Given the description of an element on the screen output the (x, y) to click on. 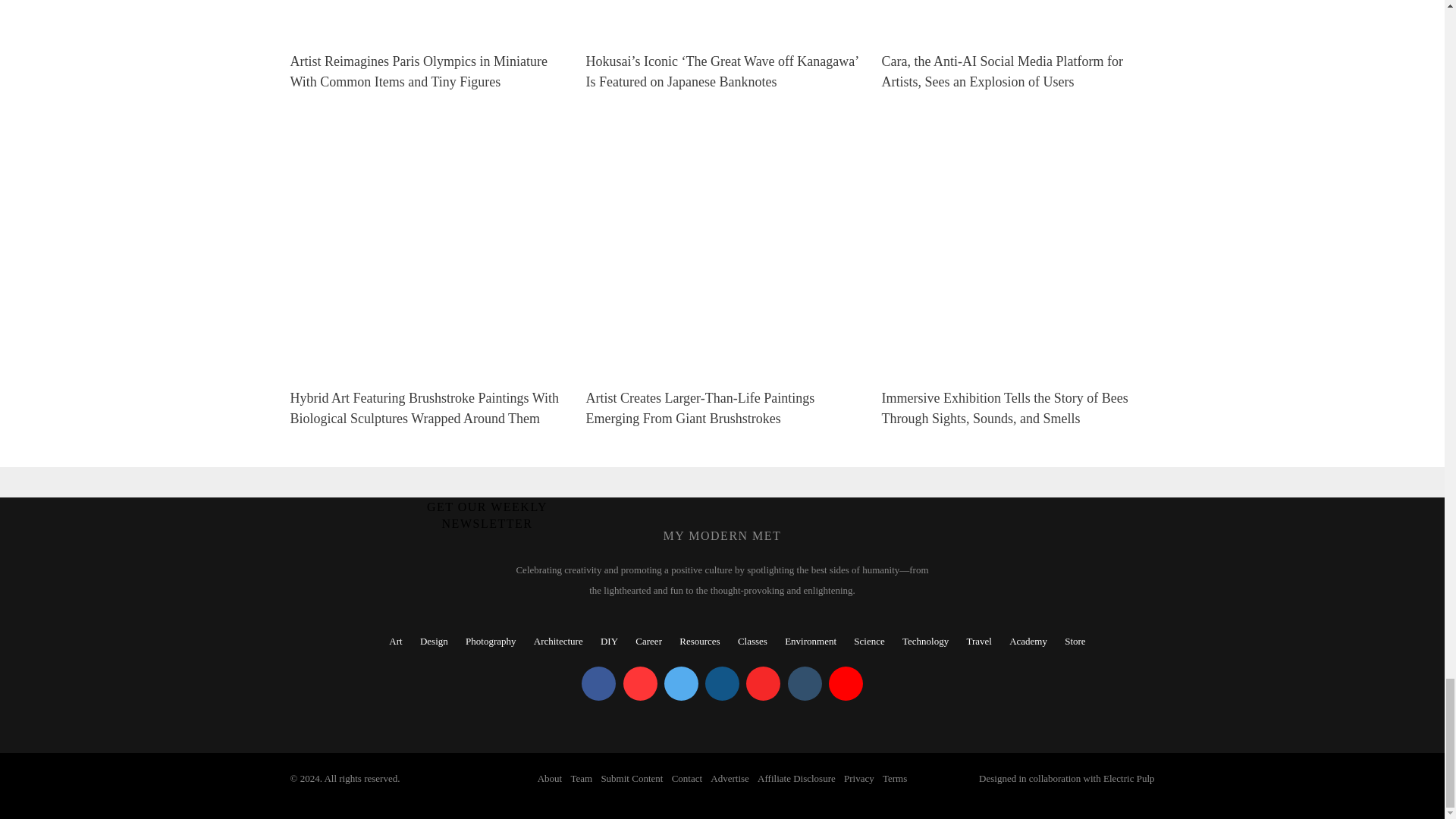
My Modern Met on Pinterest (640, 683)
My Modern Met on Instagram (721, 683)
My Modern Met on Tumblr (804, 683)
My Modern Met on YouTube (845, 683)
My Modern Met on Twitter (680, 683)
My Modern Met on Facebook (597, 683)
